Given the description of an element on the screen output the (x, y) to click on. 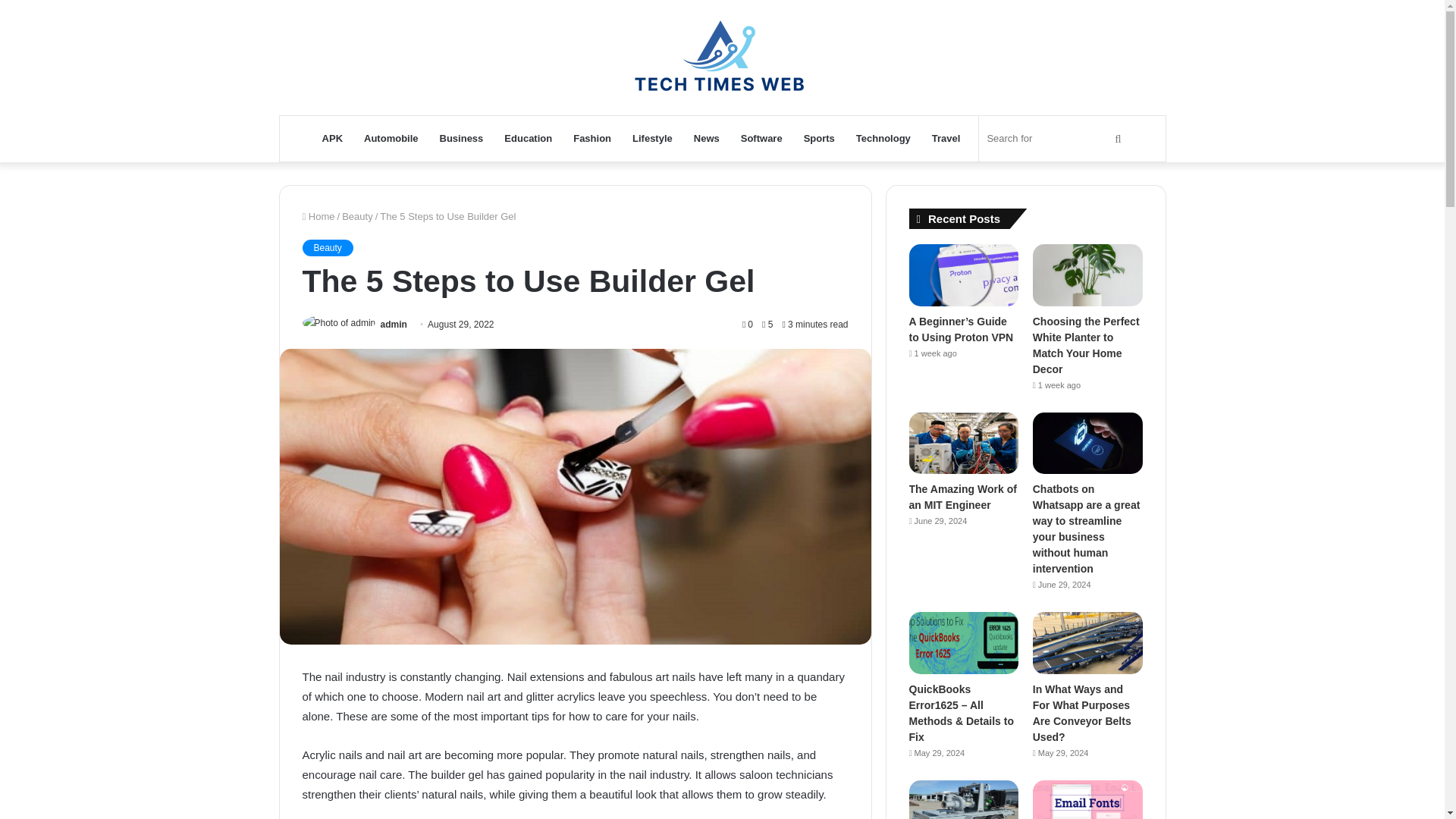
News (706, 138)
Search for (1055, 138)
Software (761, 138)
Beauty (326, 247)
Home (317, 215)
Techtimesweb (721, 57)
Business (462, 138)
Lifestyle (651, 138)
Sports (819, 138)
Travel (946, 138)
APK (332, 138)
Beauty (357, 215)
admin (393, 324)
Fashion (591, 138)
Education (527, 138)
